Given the description of an element on the screen output the (x, y) to click on. 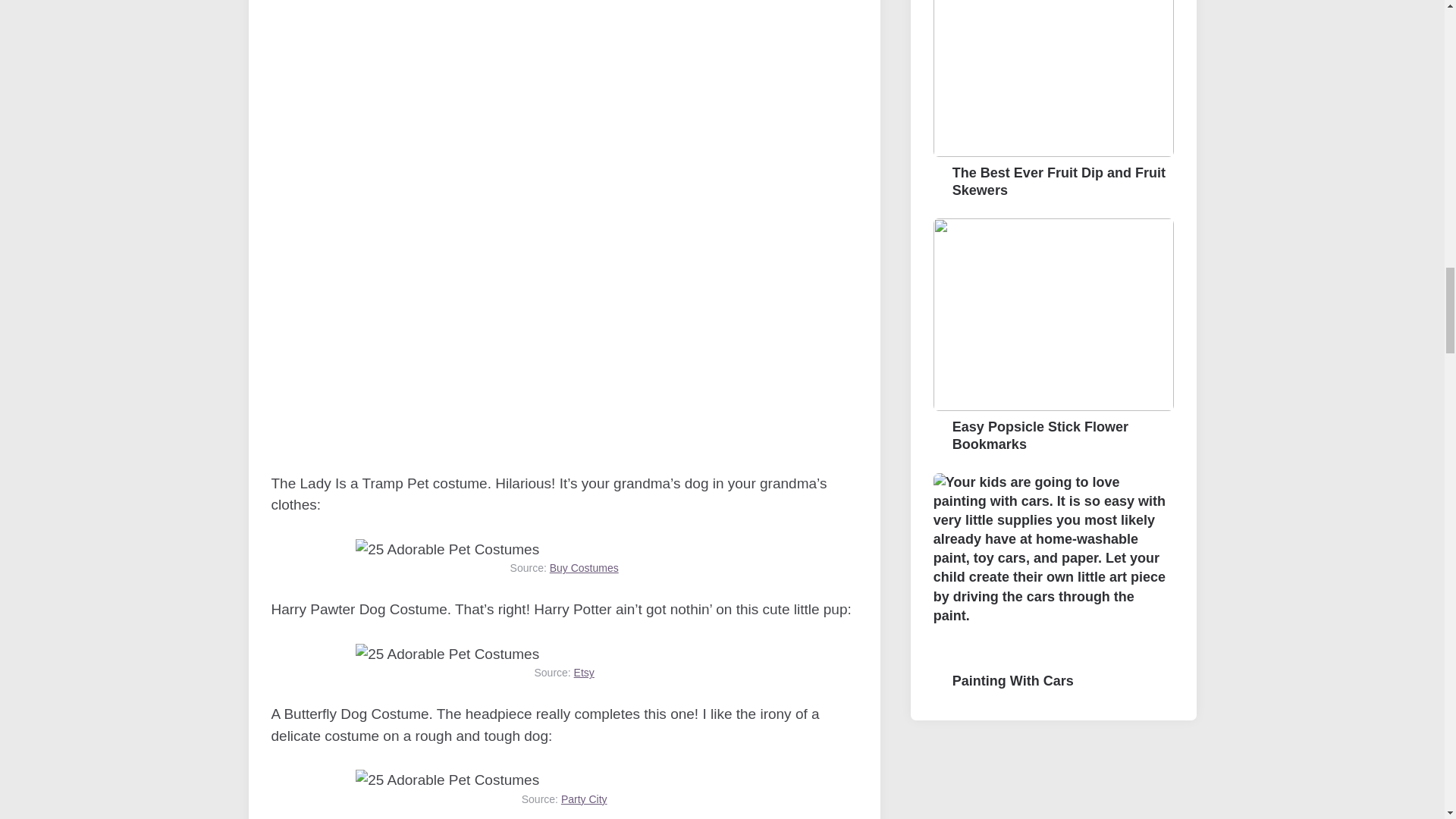
Butterfly Costume For A Dog (446, 780)
Harry Potter Pet Costumes (446, 654)
Funny Pet Costumes (446, 549)
